Given the description of an element on the screen output the (x, y) to click on. 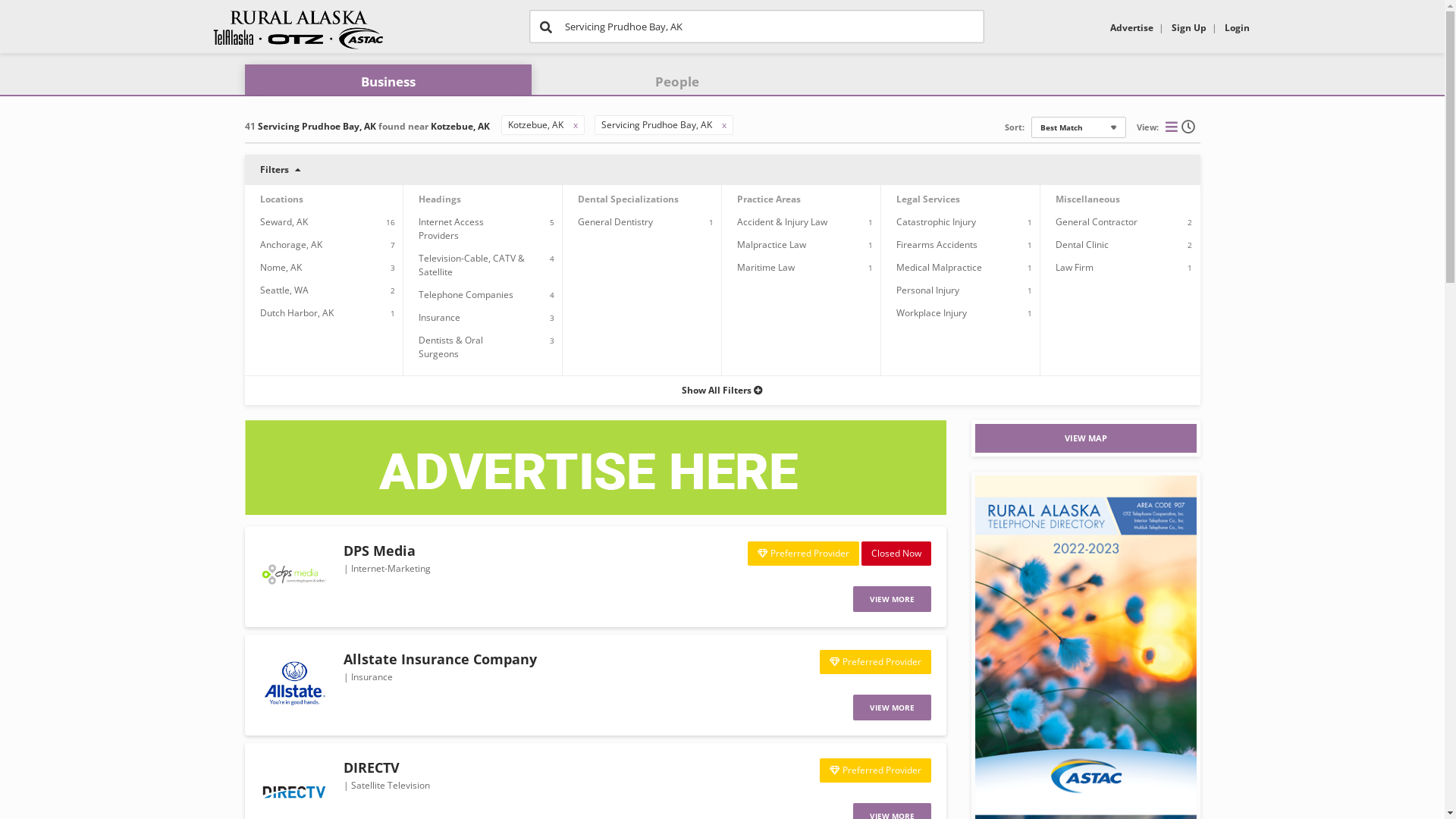
Advertise Element type: text (1131, 27)
Insurance Element type: text (439, 316)
VIEW MORE Element type: text (891, 707)
Seattle, WA Element type: text (283, 289)
Firearms Accidents Element type: text (936, 244)
Show All Filters Element type: text (721, 389)
Law Firm Element type: text (1074, 266)
DPS Media Element type: text (378, 550)
Internet Access Providers Element type: text (450, 228)
People Element type: text (677, 81)
x Element type: text (575, 124)
General Dentistry Element type: text (614, 221)
VIEW MAP Element type: text (1085, 437)
Dutch Harbor, AK Element type: text (295, 312)
Television-Cable, CATV & Satellite Element type: text (471, 264)
Dental Clinic Element type: text (1081, 244)
Medical Malpractice Element type: text (939, 266)
x Element type: text (723, 124)
Telephone Companies Element type: text (465, 294)
Sign Up Element type: text (1187, 27)
Maritime Law Element type: text (765, 266)
Catastrophic Injury Element type: text (935, 221)
Dentists & Oral Surgeons Element type: text (450, 346)
Nome, AK Element type: text (280, 266)
Allstate Insurance Company Element type: text (439, 658)
Workplace Injury Element type: text (931, 312)
Show Open Element type: hover (1189, 126)
Accident & Injury Law Element type: text (782, 221)
General Contractor Element type: text (1096, 221)
Personal Injury Element type: text (927, 289)
Anchorage, AK Element type: text (290, 244)
Seward, AK Element type: text (283, 221)
Filters Element type: text (721, 169)
VIEW MORE Element type: text (891, 598)
DIRECTV Element type: text (370, 767)
Login Element type: text (1235, 27)
Malpractice Law Element type: text (771, 244)
